Given the description of an element on the screen output the (x, y) to click on. 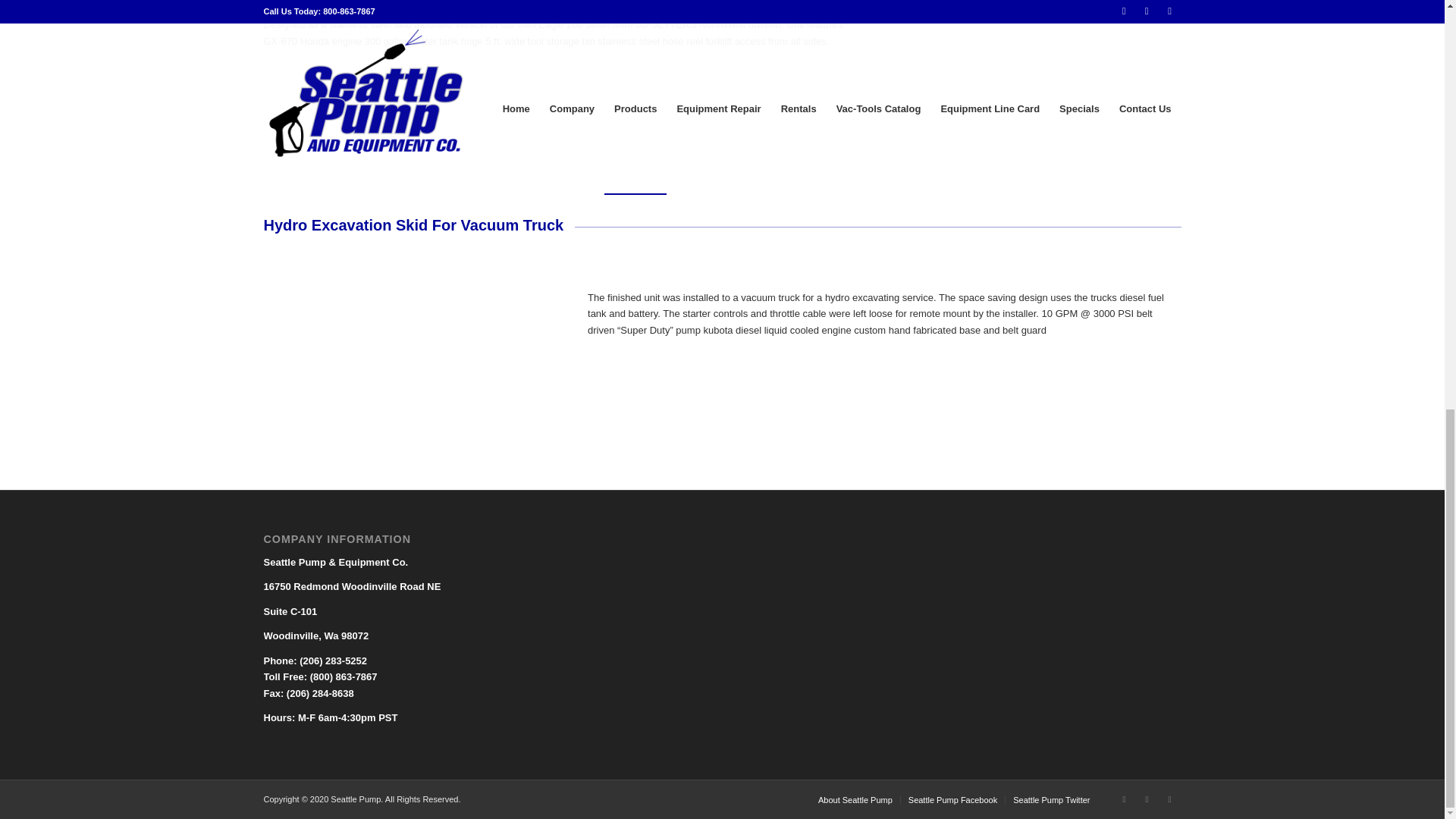
LinkedIn (1169, 798)
Twitter (1146, 798)
Facebook (1124, 798)
